Given the description of an element on the screen output the (x, y) to click on. 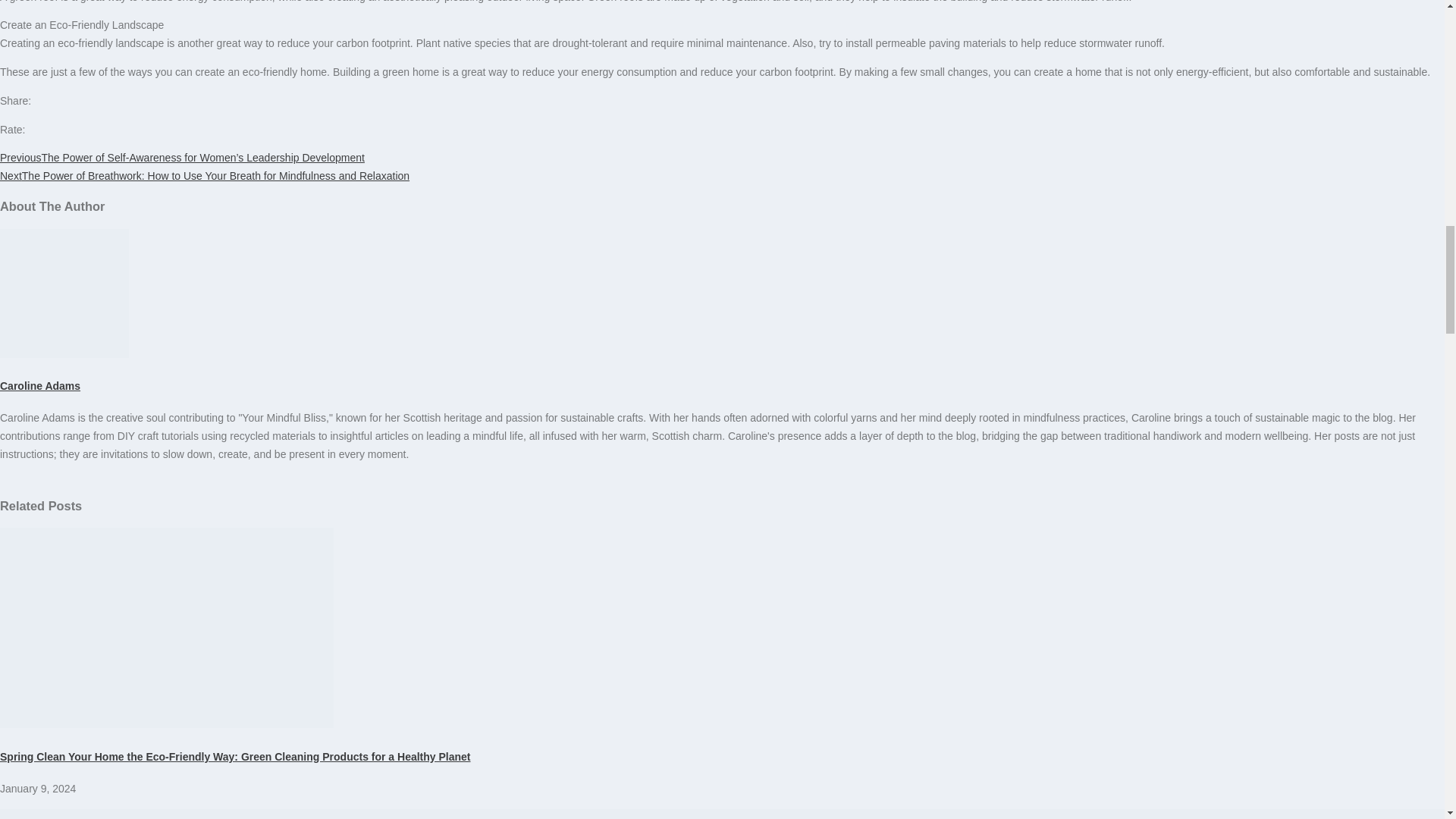
Caroline Adams (40, 386)
